Given the description of an element on the screen output the (x, y) to click on. 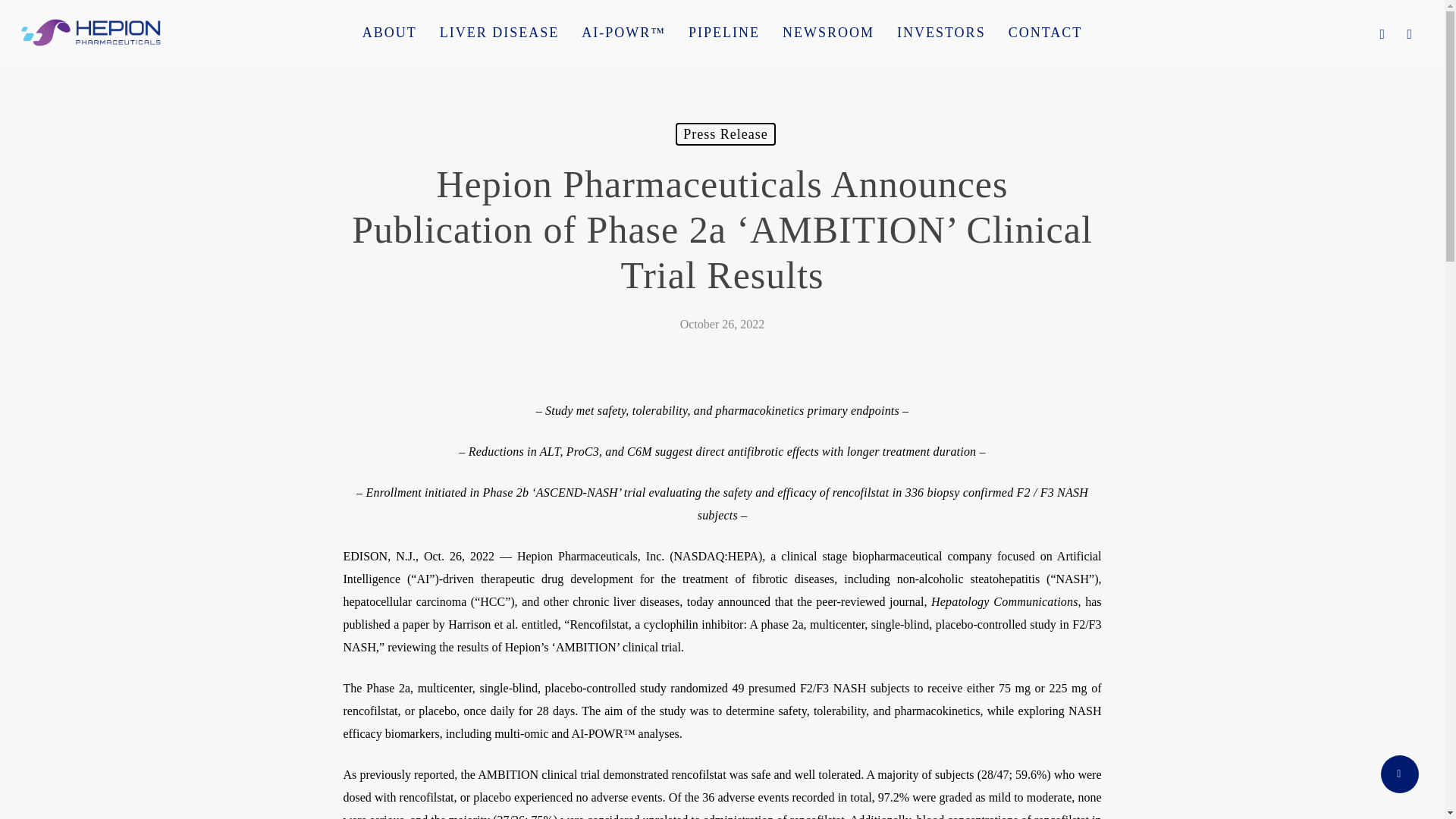
NEWSROOM (828, 32)
ABOUT (389, 32)
PIPELINE (724, 32)
LIVER DISEASE (499, 32)
CONTACT (1045, 32)
LINKEDIN (1409, 32)
Press Release (724, 133)
INVESTORS (941, 32)
TWITTER (1382, 32)
